Given the description of an element on the screen output the (x, y) to click on. 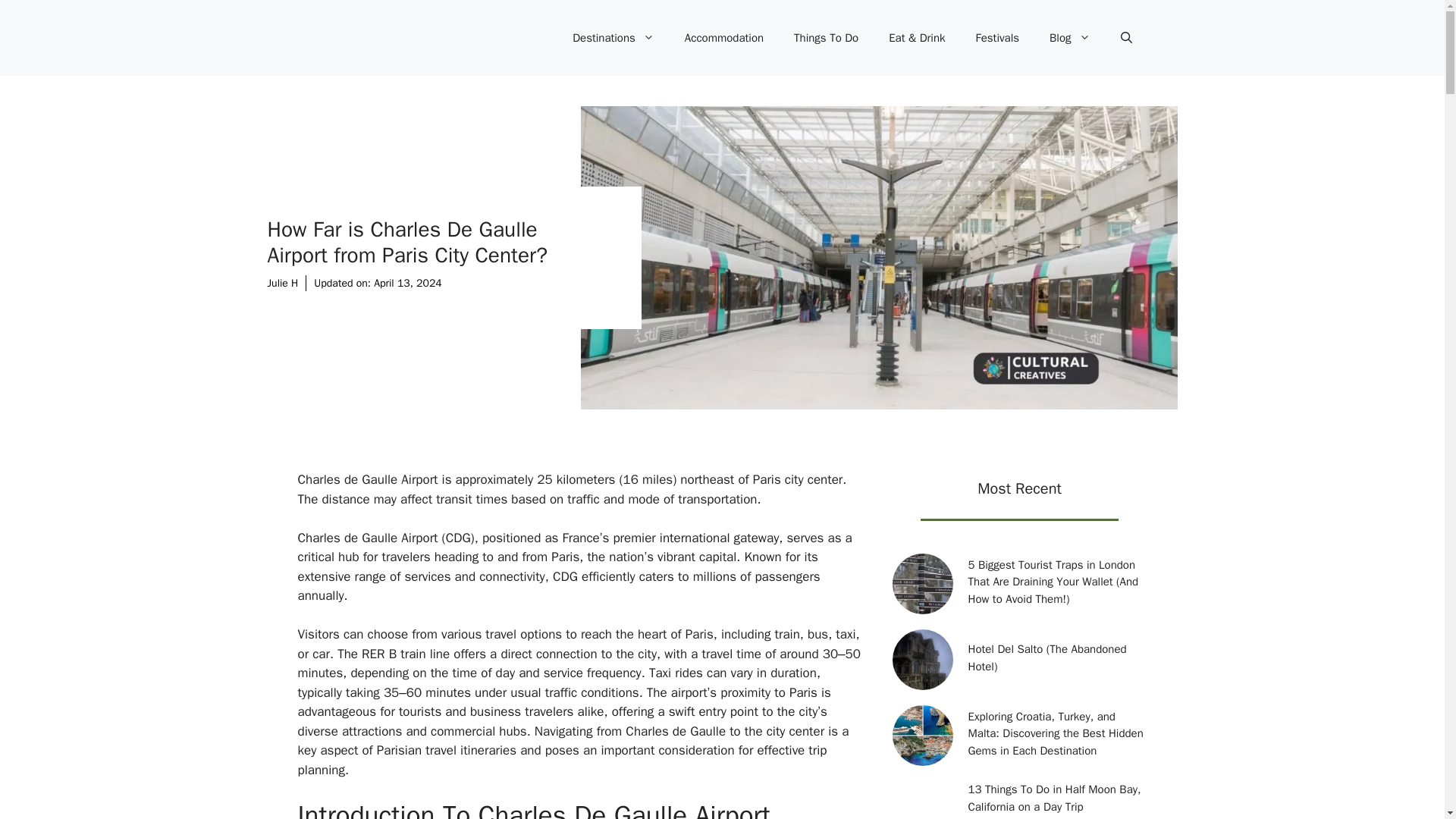
Things To Do (825, 37)
Festivals (997, 37)
13 Things To Do in Half Moon Bay, California on a Day Trip (1054, 798)
Accommodation (723, 37)
Destinations (613, 37)
Blog (1069, 37)
Julie H (282, 282)
